Given the description of an element on the screen output the (x, y) to click on. 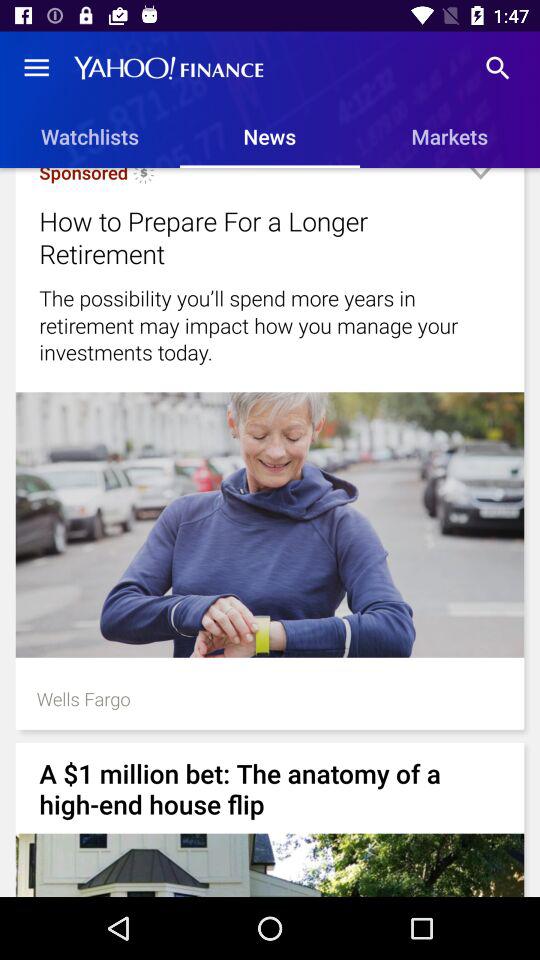
flip until the a 1 million (269, 788)
